Given the description of an element on the screen output the (x, y) to click on. 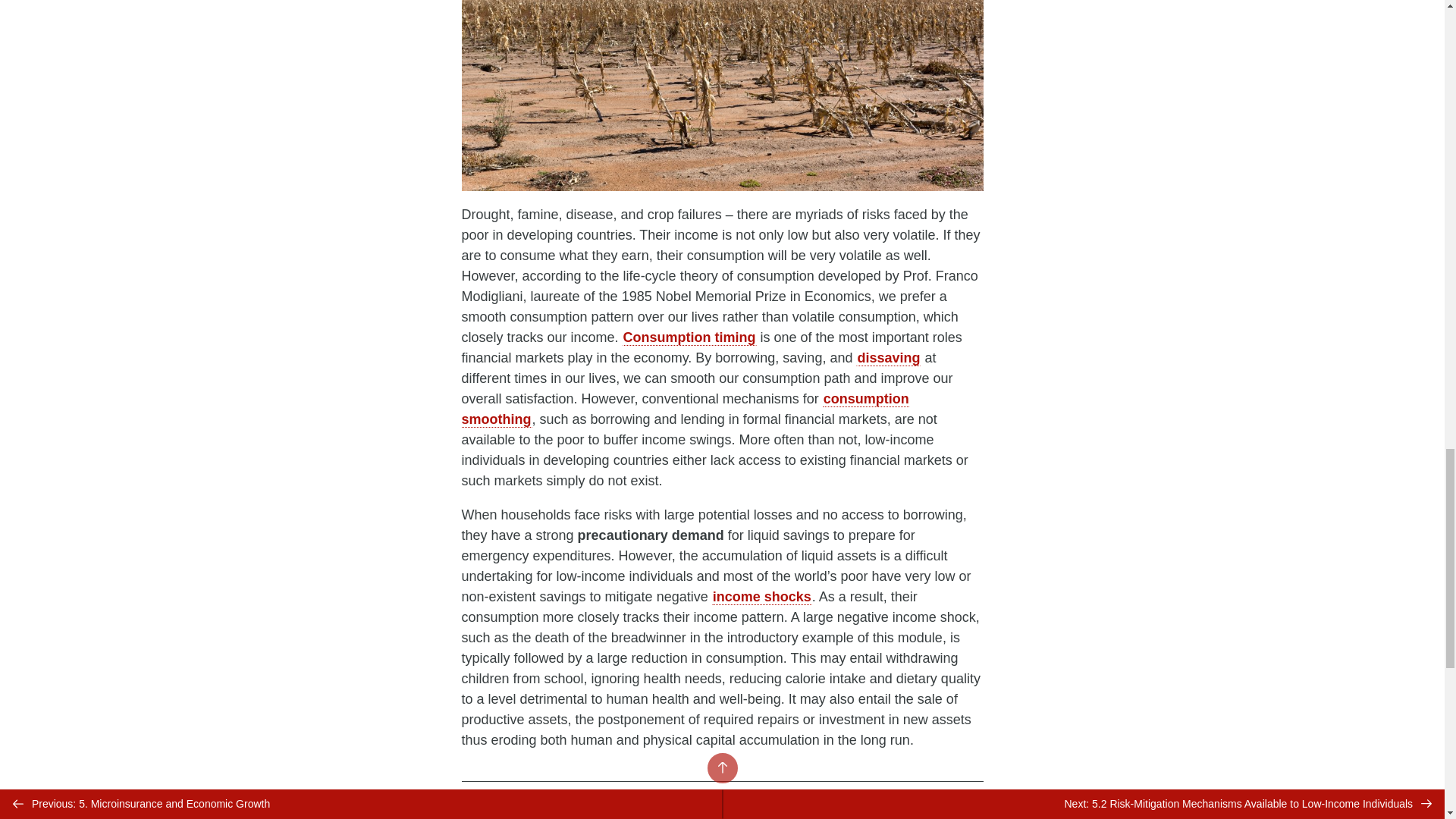
consumption smoothing (684, 408)
income shocks (761, 596)
dissaving (888, 357)
Consumption timing (690, 337)
